Given the description of an element on the screen output the (x, y) to click on. 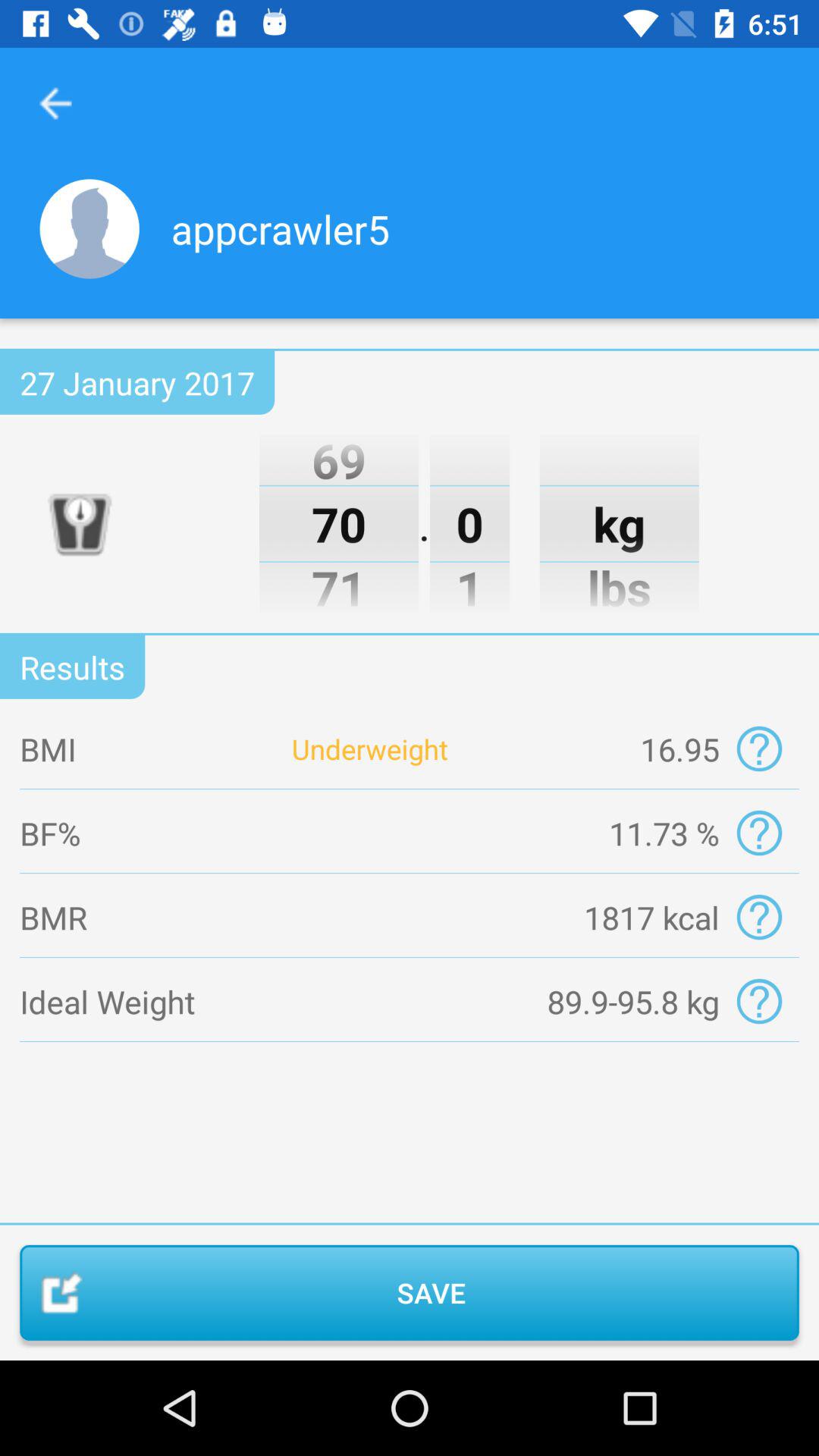
what is bmr (759, 917)
